Given the description of an element on the screen output the (x, y) to click on. 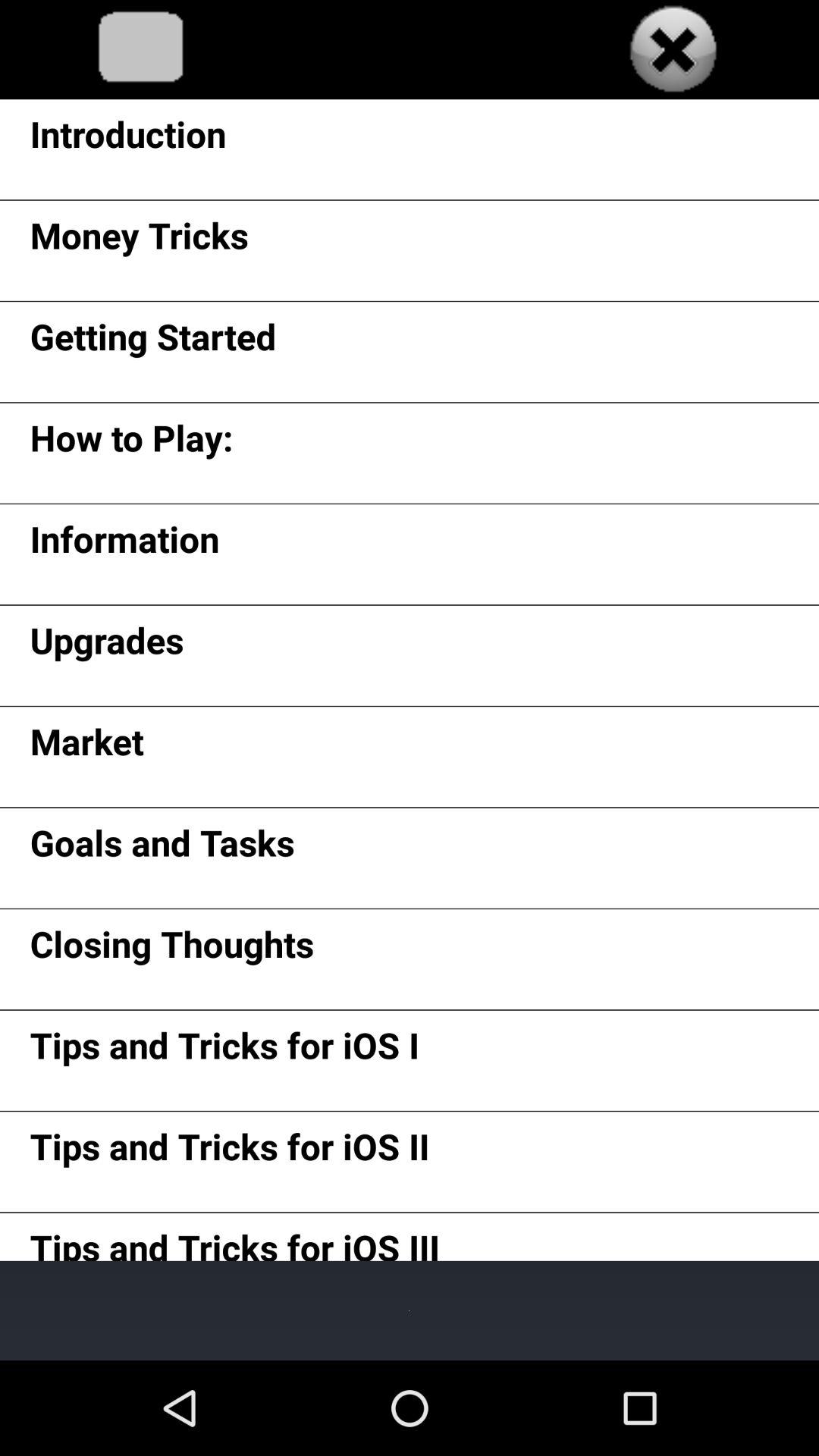
choose the money tricks app (139, 240)
